Given the description of an element on the screen output the (x, y) to click on. 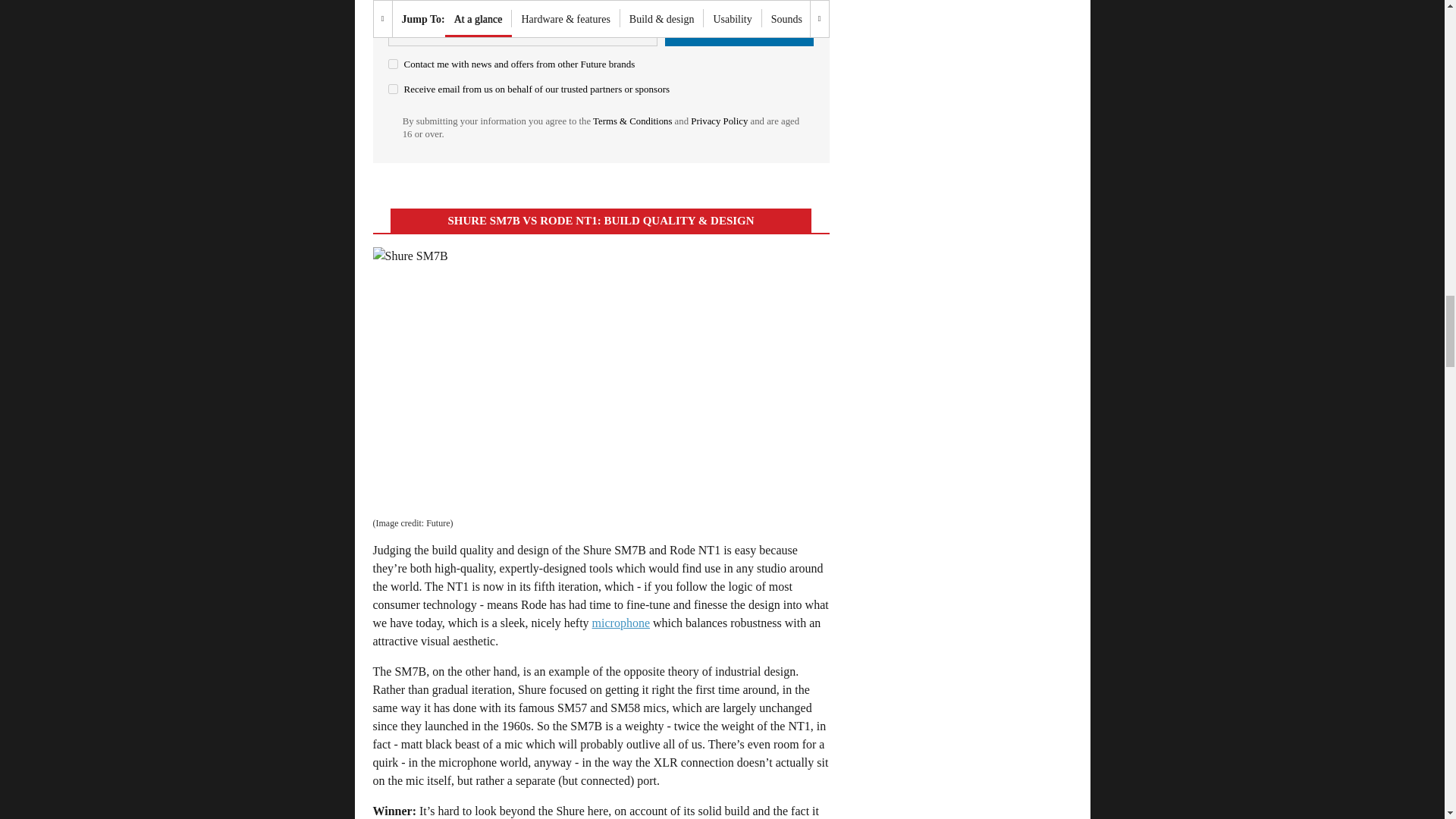
on (392, 63)
on (392, 89)
Sign me up (739, 28)
